Given the description of an element on the screen output the (x, y) to click on. 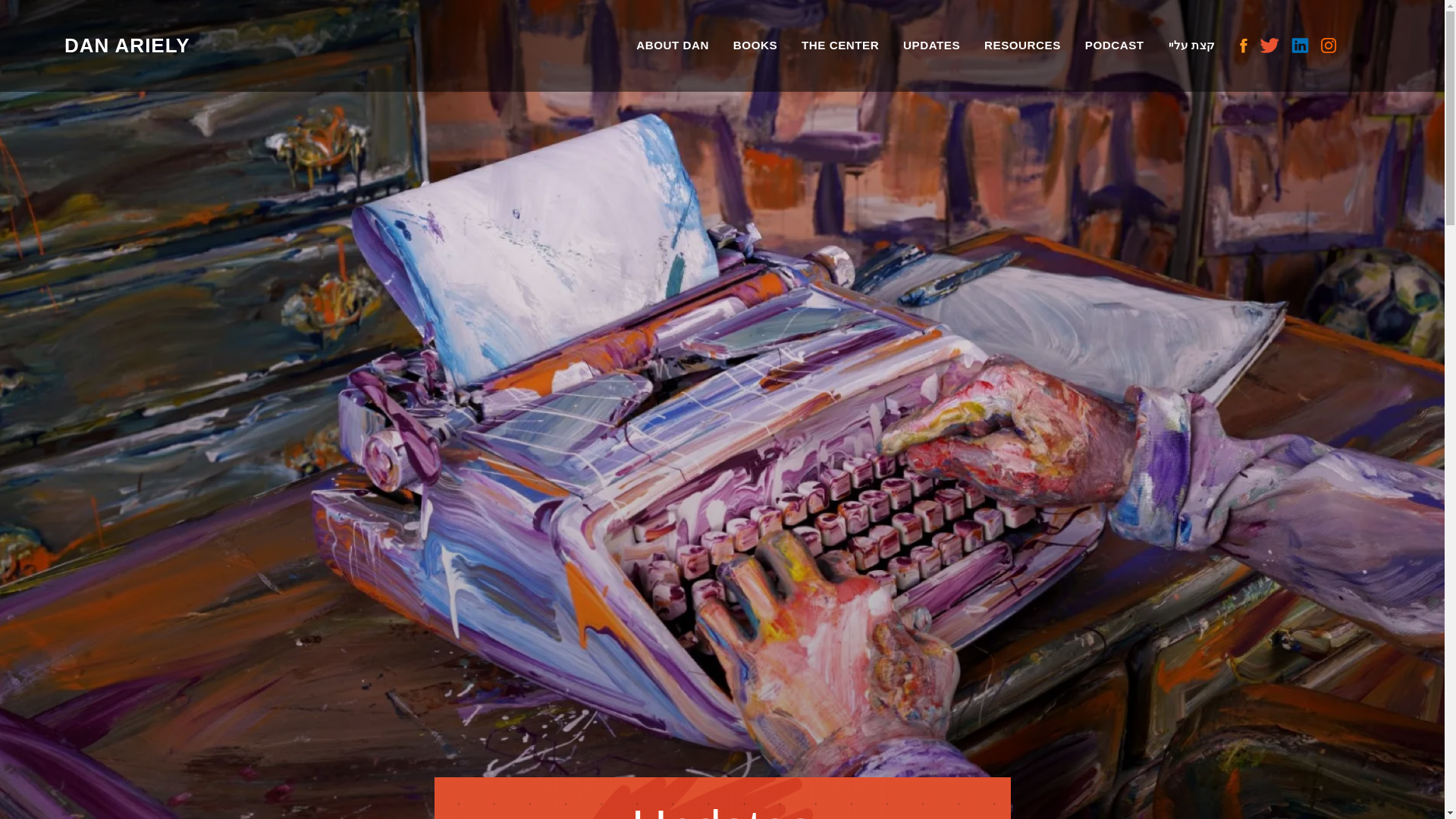
BOOKS (755, 45)
PODCAST (1114, 45)
THE CENTER (840, 45)
UPDATES (930, 45)
RESOURCES (1022, 45)
ABOUT DAN (672, 45)
DAN ARIELY (130, 45)
